Given the description of an element on the screen output the (x, y) to click on. 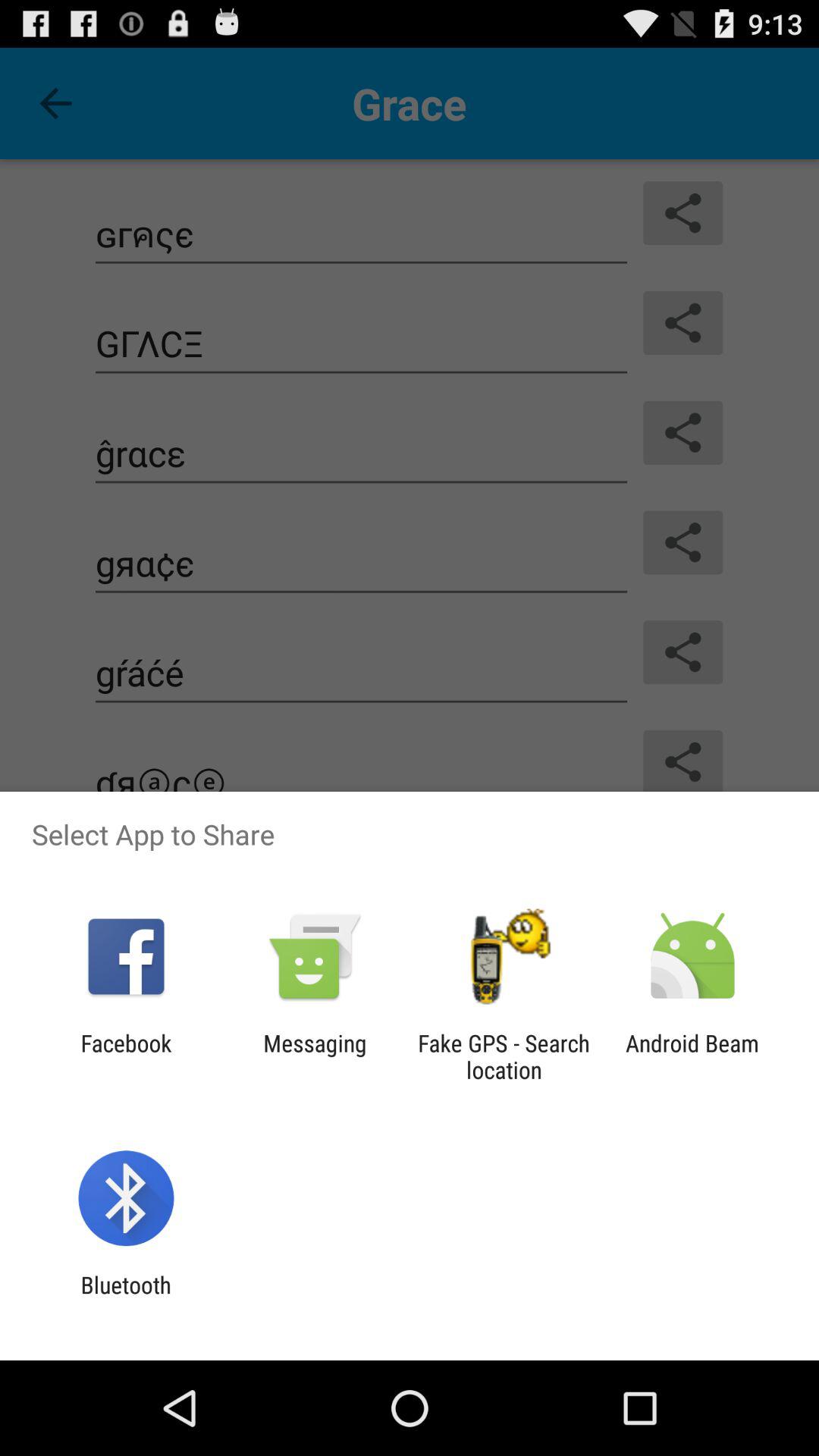
open item next to the fake gps search app (692, 1056)
